Given the description of an element on the screen output the (x, y) to click on. 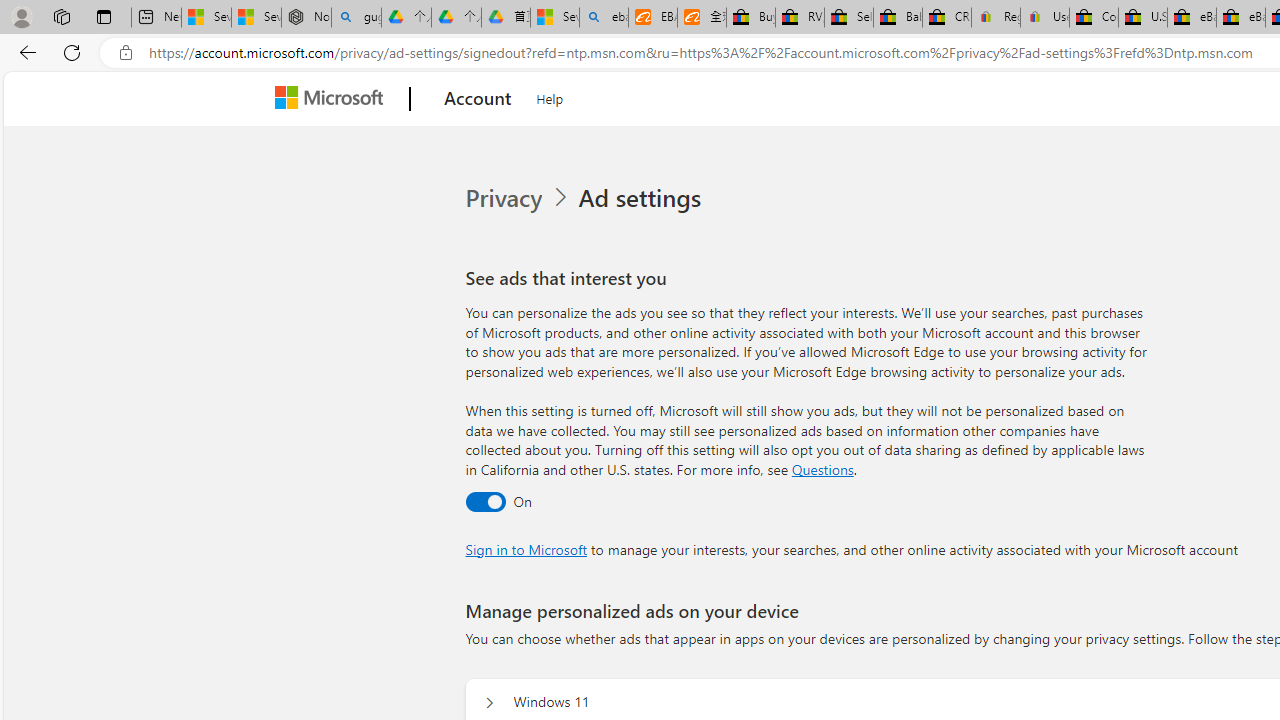
Ad settings toggle (484, 501)
Help (550, 96)
Ad settings (643, 197)
Go to Questions section (822, 468)
Workspaces (61, 16)
User Privacy Notice | eBay (1044, 17)
